Given the description of an element on the screen output the (x, y) to click on. 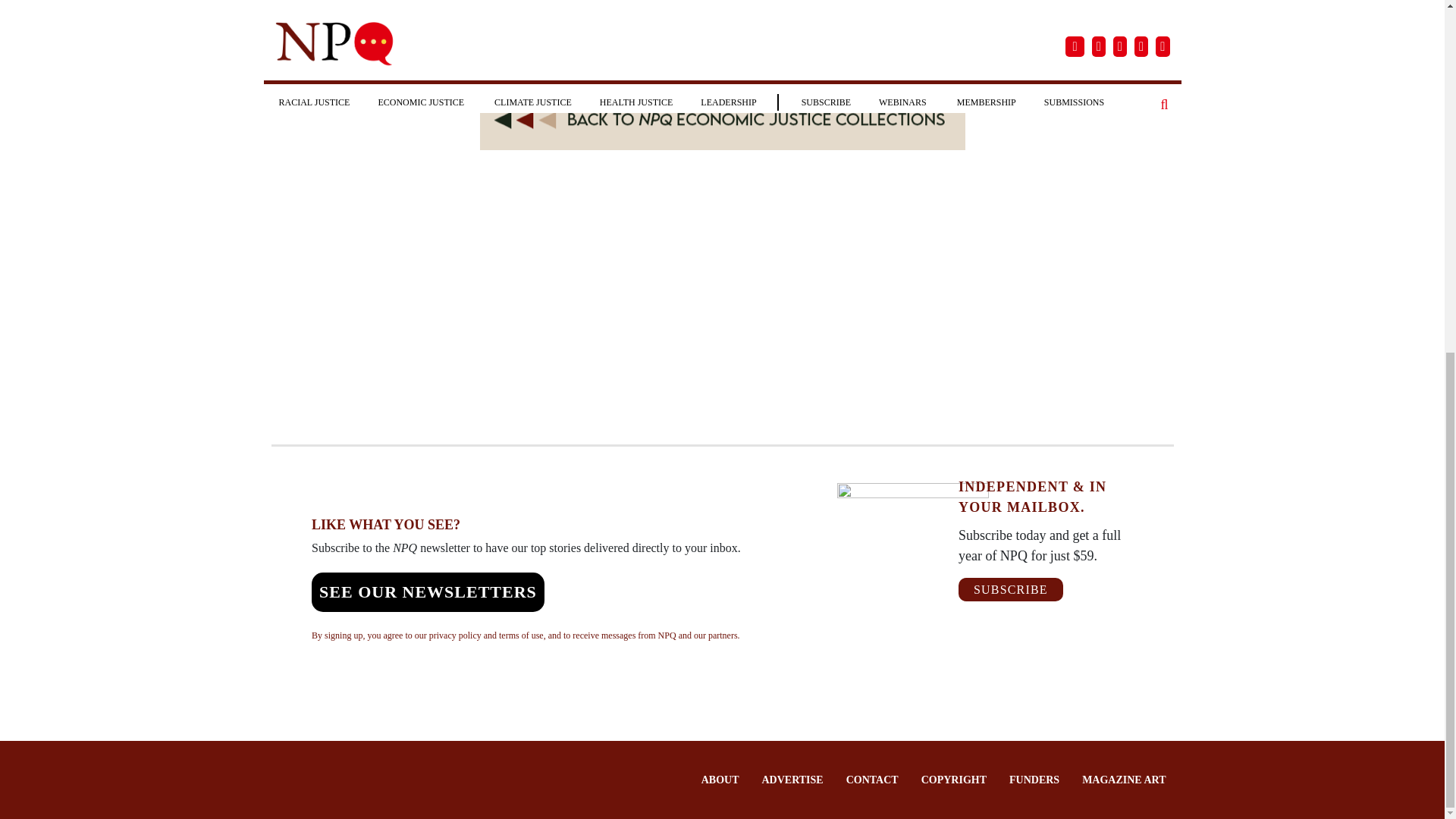
CONTACT (871, 779)
Solidarity Economy Series (363, 19)
Theory of a Democratic Economy (691, 19)
ABOUT (720, 779)
FUNDERS (1034, 779)
COPYRIGHT (954, 779)
SEE OUR NEWSLETTERS (427, 591)
Ownership (926, 19)
ADVERTISE (791, 779)
SUBSCRIBE (1010, 589)
